Given the description of an element on the screen output the (x, y) to click on. 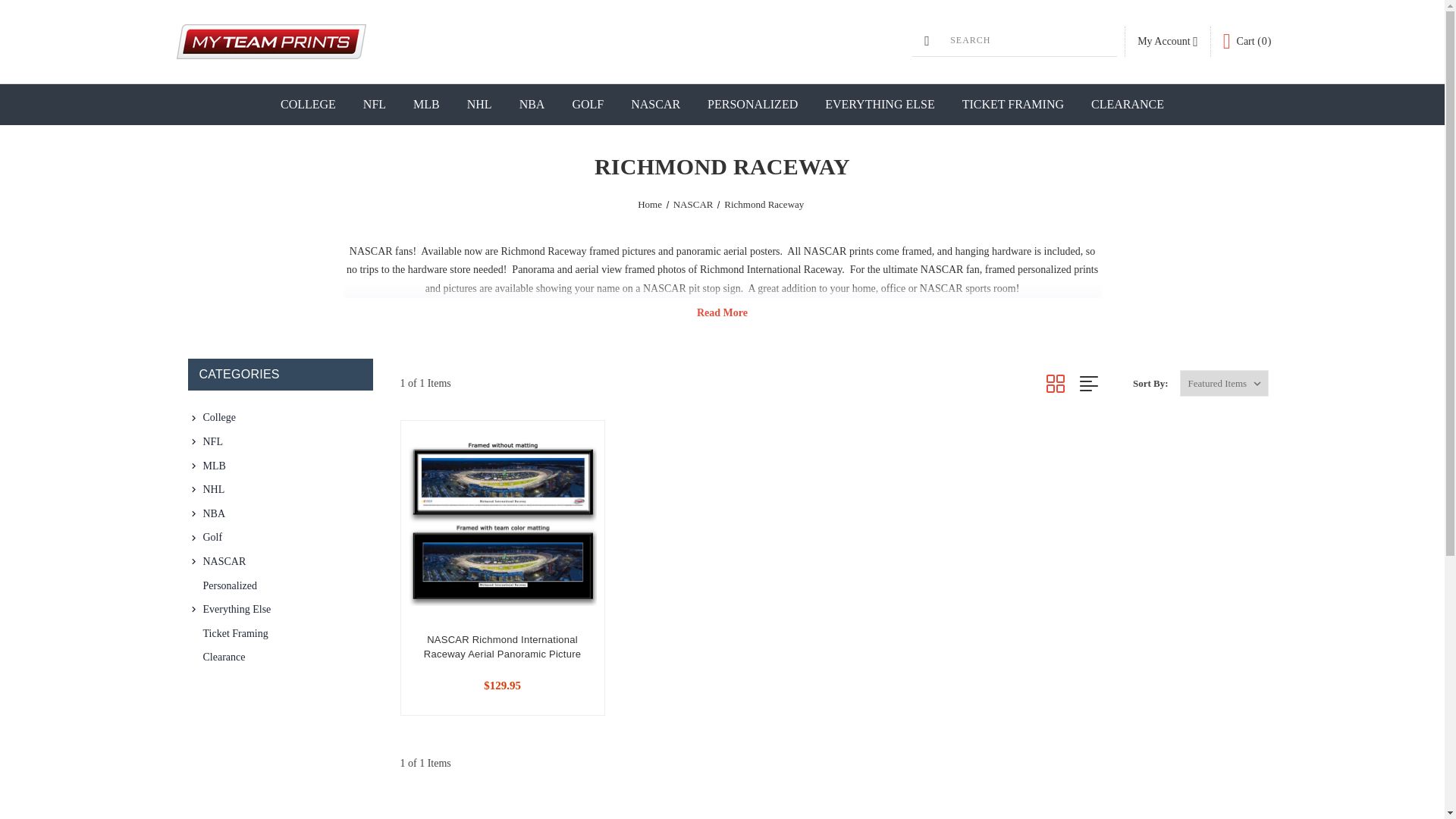
Go (13, 9)
Cart 0 (1247, 41)
COLLEGE (307, 104)
MyTeamPrints.com (270, 41)
College (285, 417)
My Account (1167, 41)
